Given the description of an element on the screen output the (x, y) to click on. 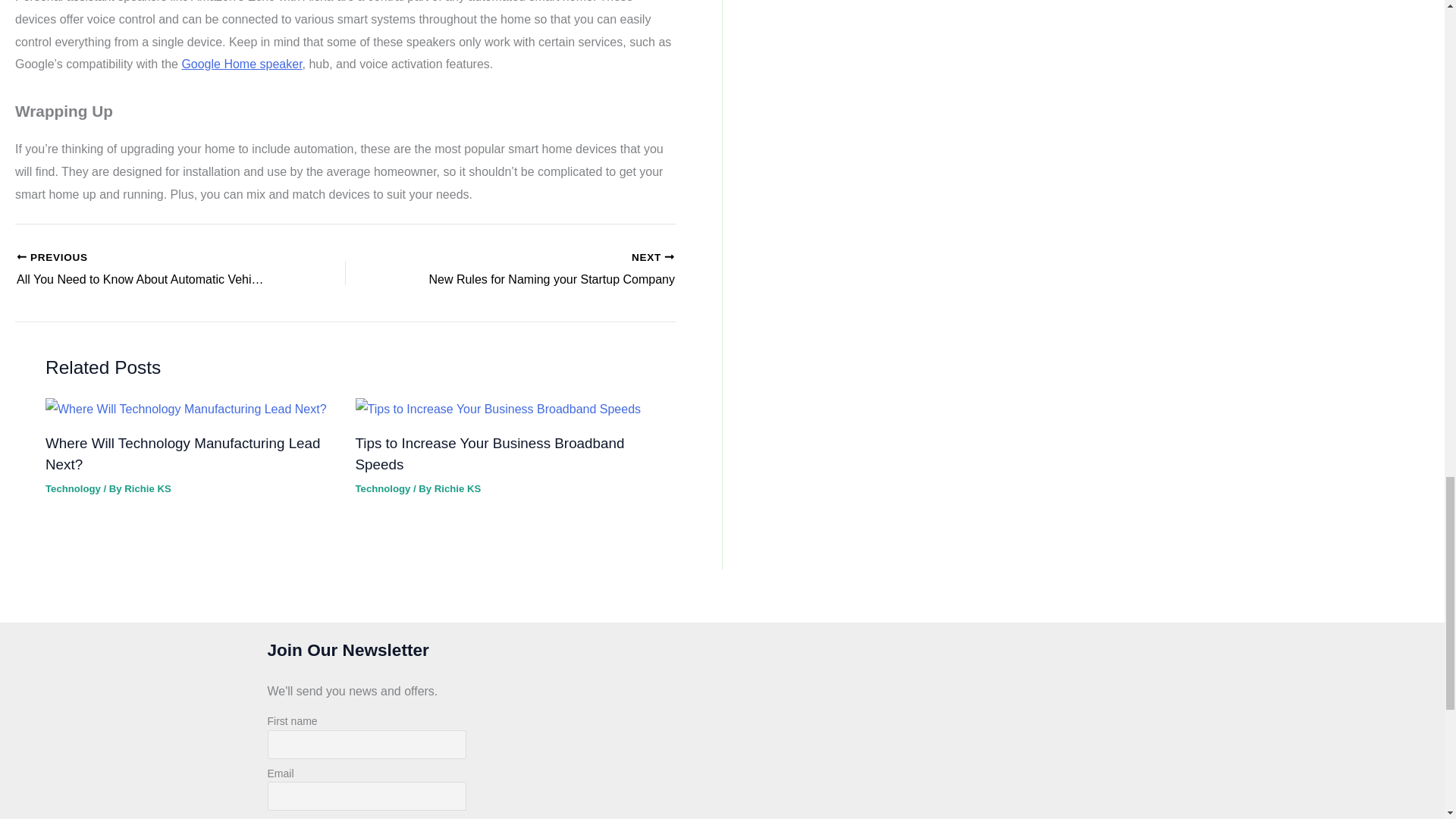
View all posts by Richie KS (146, 488)
Google Home speaker (240, 63)
All You Need to Know About Automatic Vehicle Locators (148, 269)
New Rules for Naming your Startup Company (542, 269)
View all posts by Richie KS (456, 488)
